Given the description of an element on the screen output the (x, y) to click on. 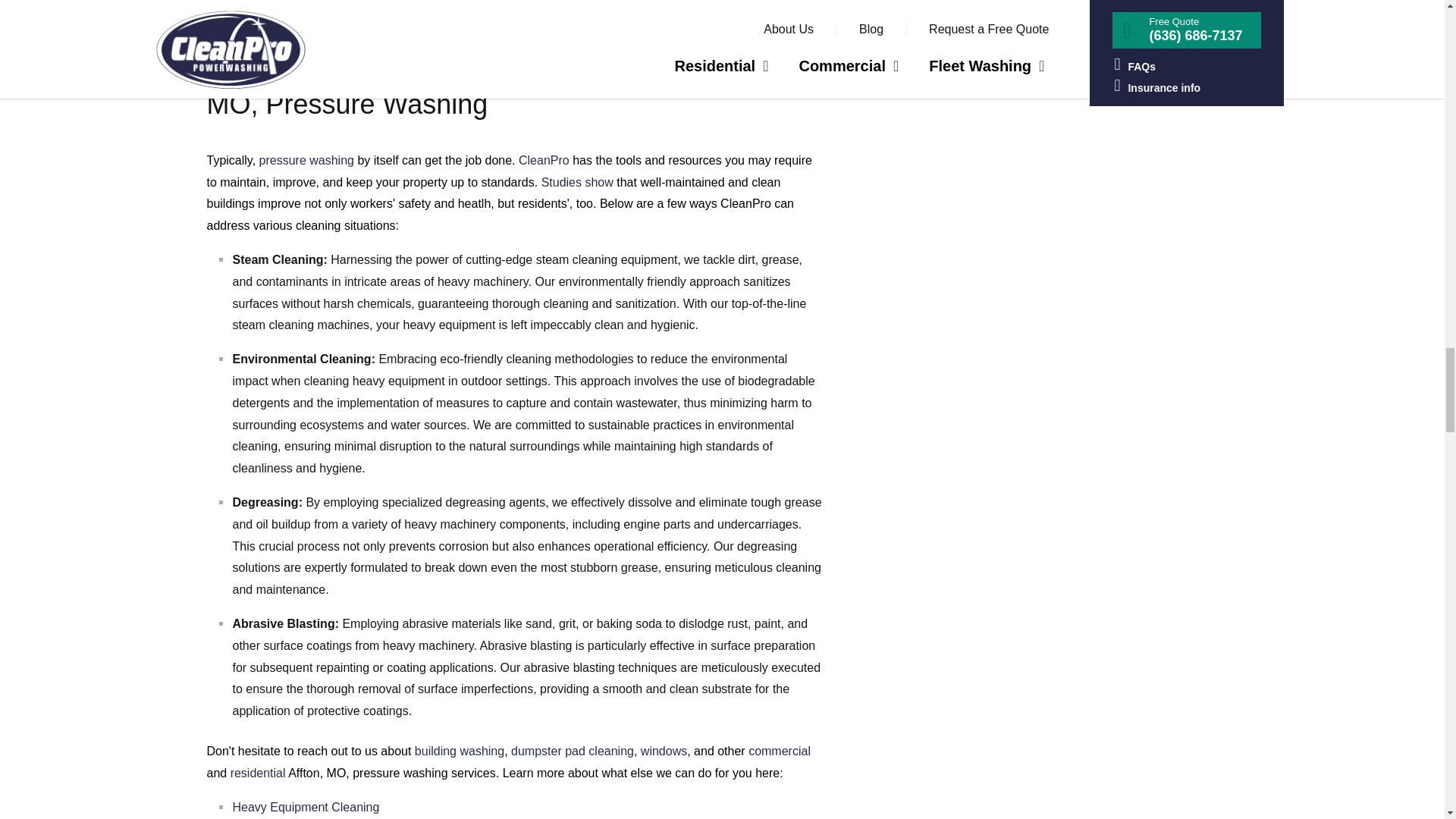
Studies (576, 182)
Pressure Washing Stats (306, 160)
